Given the description of an element on the screen output the (x, y) to click on. 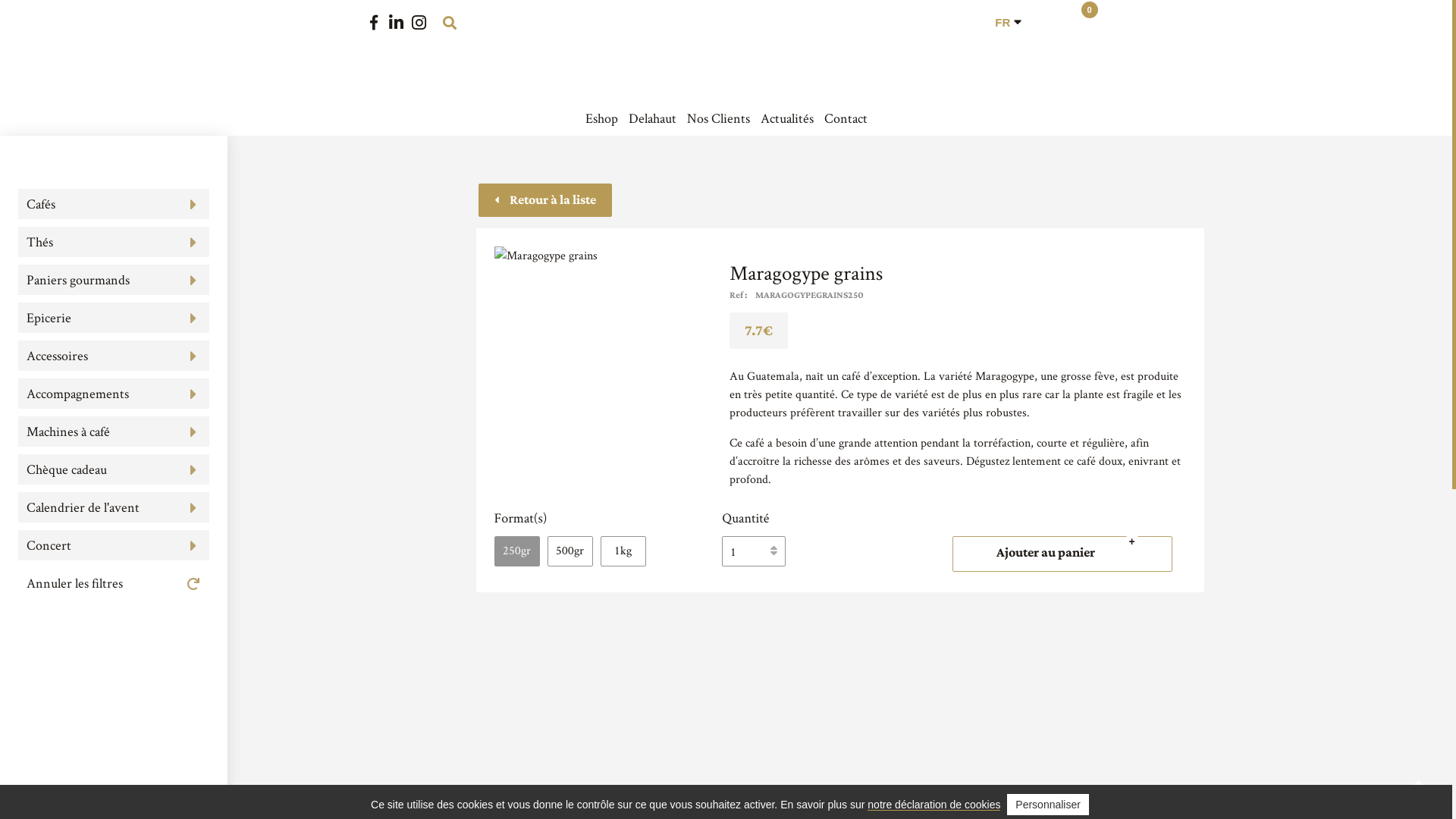
Nos Clients Element type: text (718, 117)
Facebook Element type: text (373, 22)
Delahaut Element type: text (726, 55)
Eshop Element type: text (601, 117)
Annuler les filtres Element type: text (113, 582)
Rechercher Element type: text (448, 22)
FR Element type: text (1002, 21)
Instagram Element type: text (418, 22)
Panier Element type: text (1075, 22)
Delahaut Element type: text (651, 117)
Mon compte Element type: text (1048, 22)
Scroll top Element type: text (1418, 784)
Contact Element type: text (844, 117)
Linkedin Element type: text (396, 22)
Personnaliser Element type: text (1047, 804)
